Given the description of an element on the screen output the (x, y) to click on. 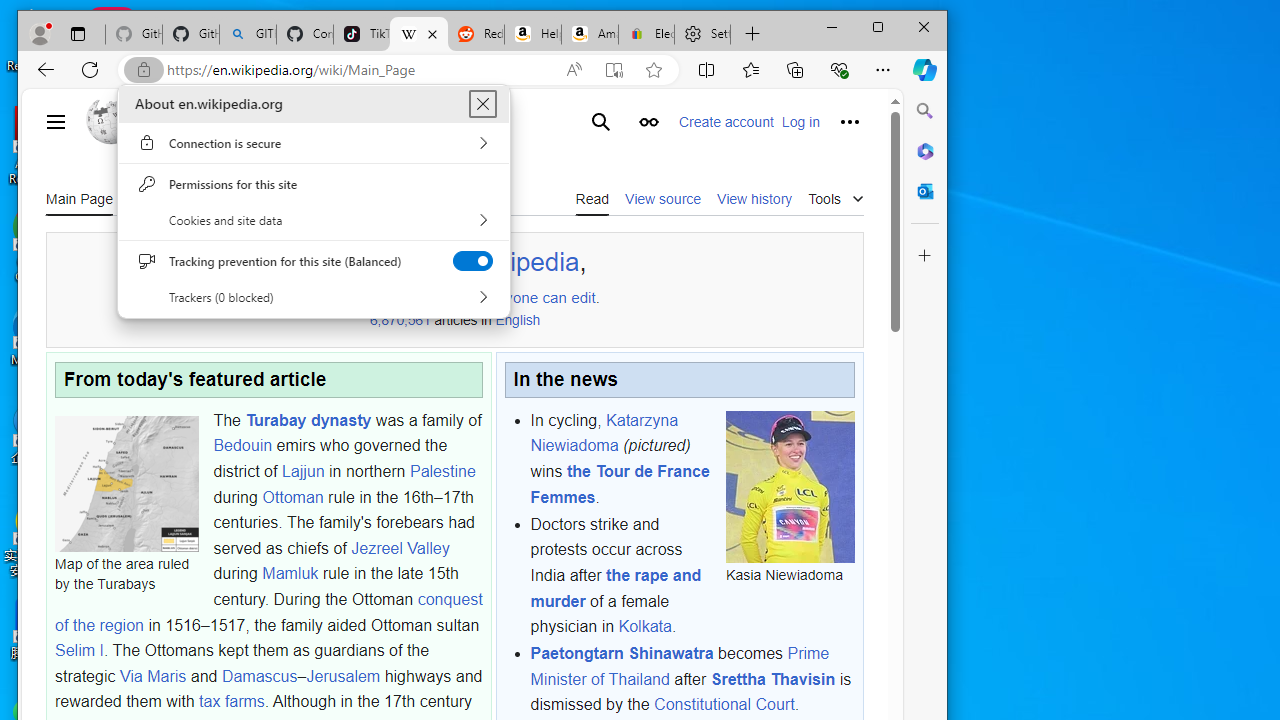
Kasia Niewiadoma (790, 486)
Turabay dynasty (308, 420)
Main menu (56, 122)
About en.wikipedia.org (482, 104)
Map of the area ruled by the Turabays (126, 483)
Tools (835, 196)
